Given the description of an element on the screen output the (x, y) to click on. 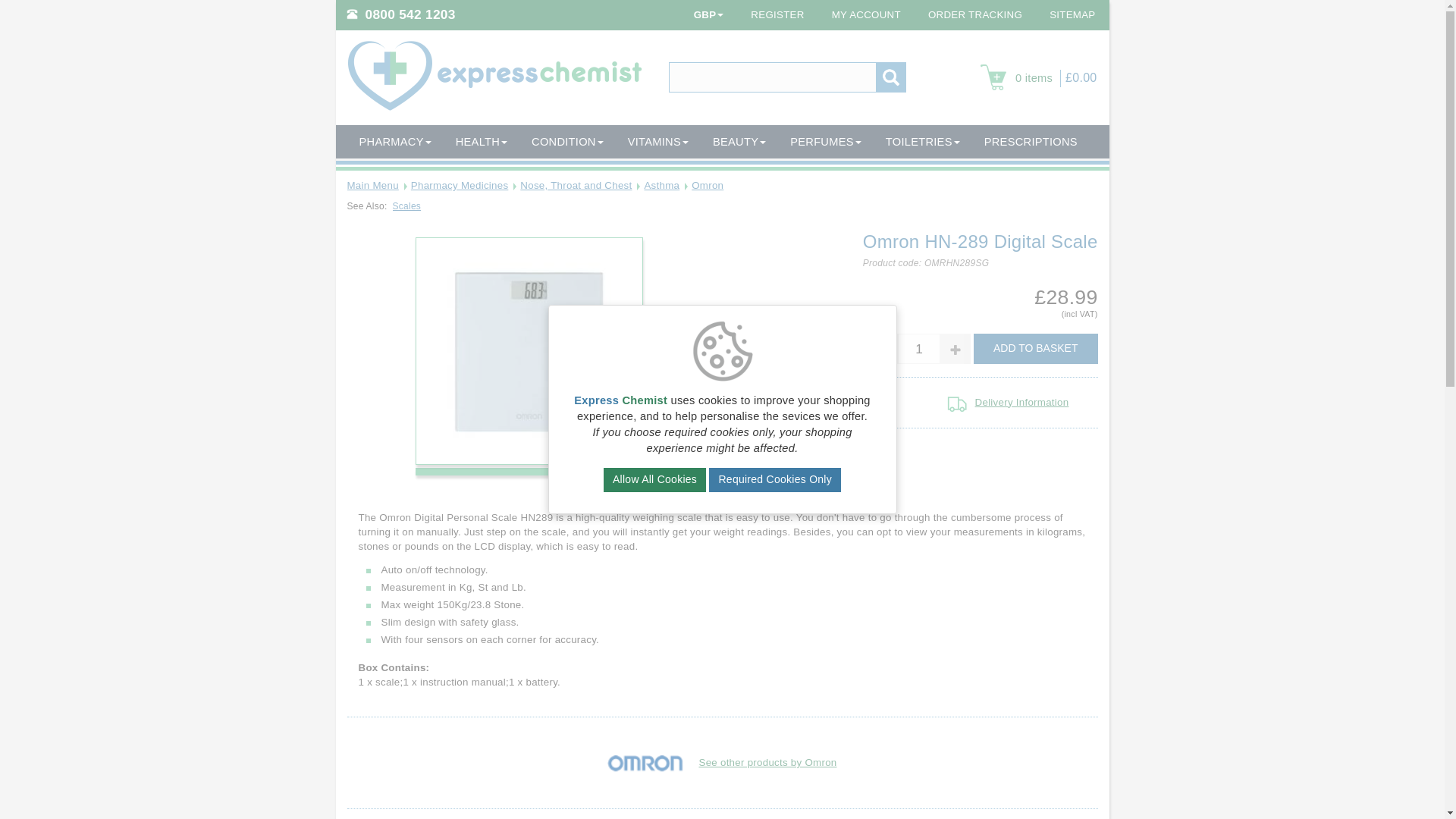
REGISTER (776, 15)
ORDER TRACKING (974, 15)
Delivery Information (956, 404)
PHARMACY (395, 141)
0 items (1018, 78)
GBP (708, 15)
HEALTH (481, 141)
1 (919, 349)
submit (890, 77)
